Given the description of an element on the screen output the (x, y) to click on. 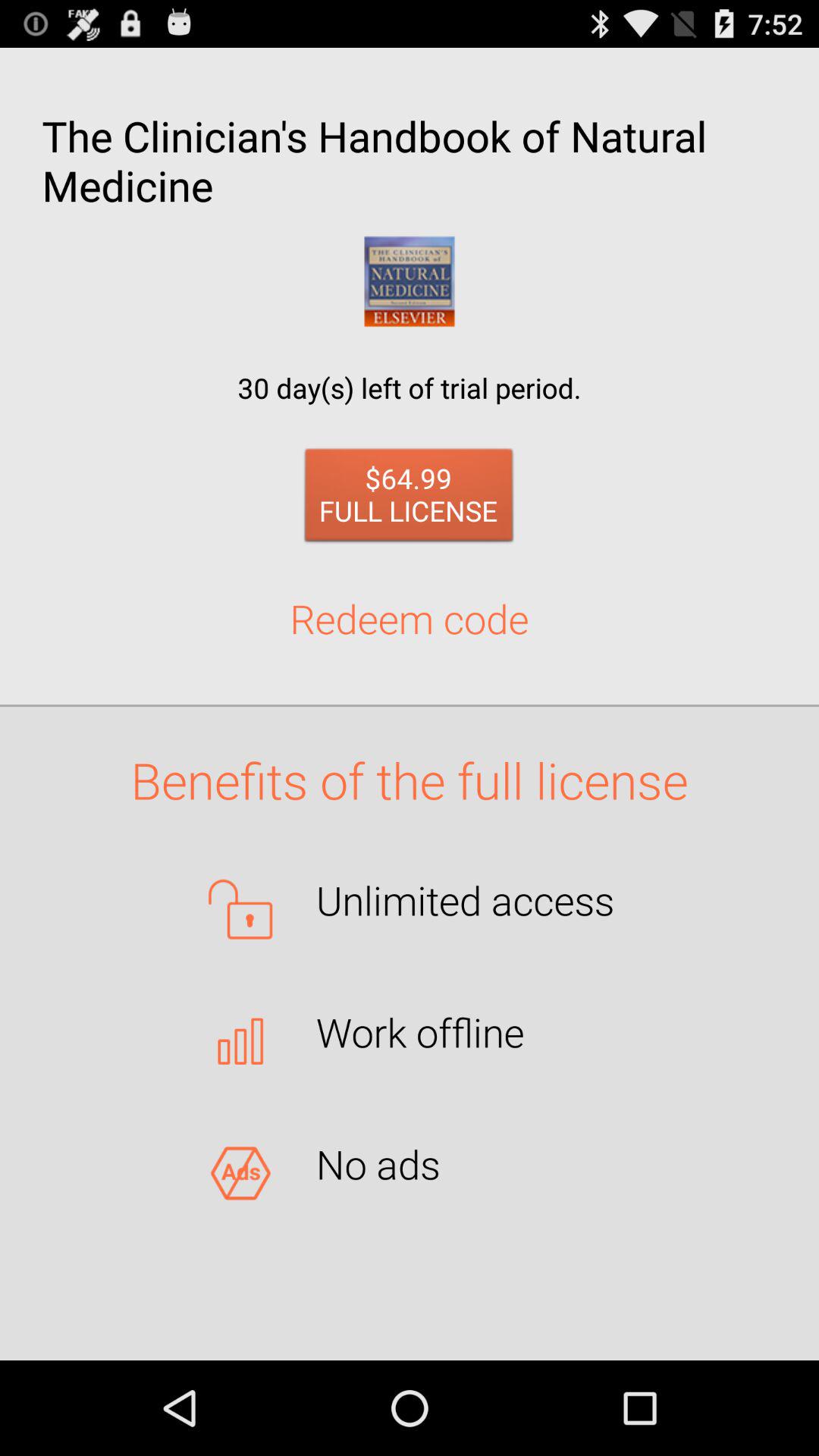
choose icon above the redeem code (409, 499)
